Given the description of an element on the screen output the (x, y) to click on. 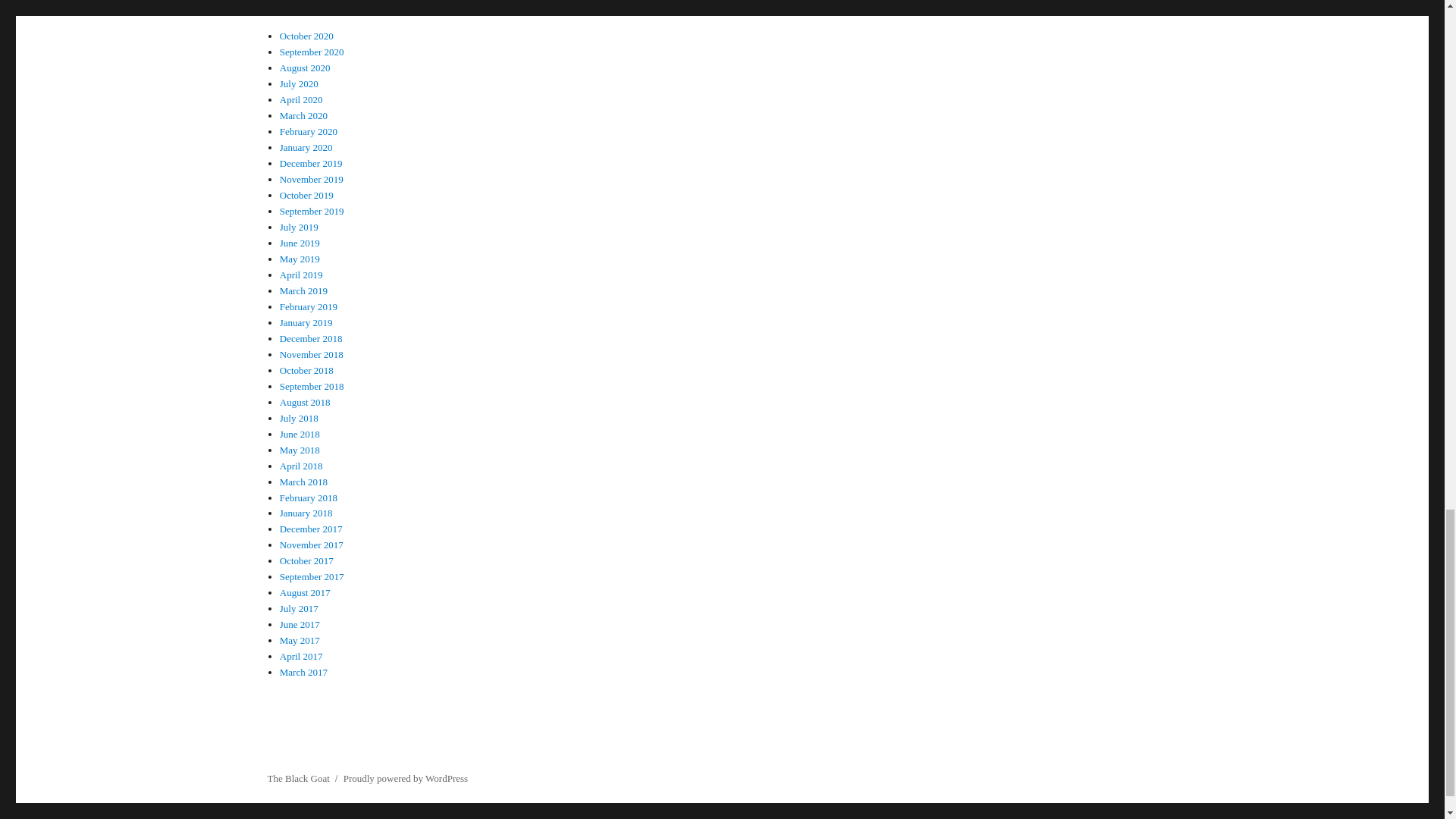
December 2018 (310, 337)
February 2020 (308, 131)
December 2019 (310, 163)
January 2020 (306, 147)
February 2019 (308, 306)
October 2020 (306, 35)
January 2019 (306, 322)
May 2019 (299, 258)
July 2019 (298, 226)
March 2020 (303, 115)
